Given the description of an element on the screen output the (x, y) to click on. 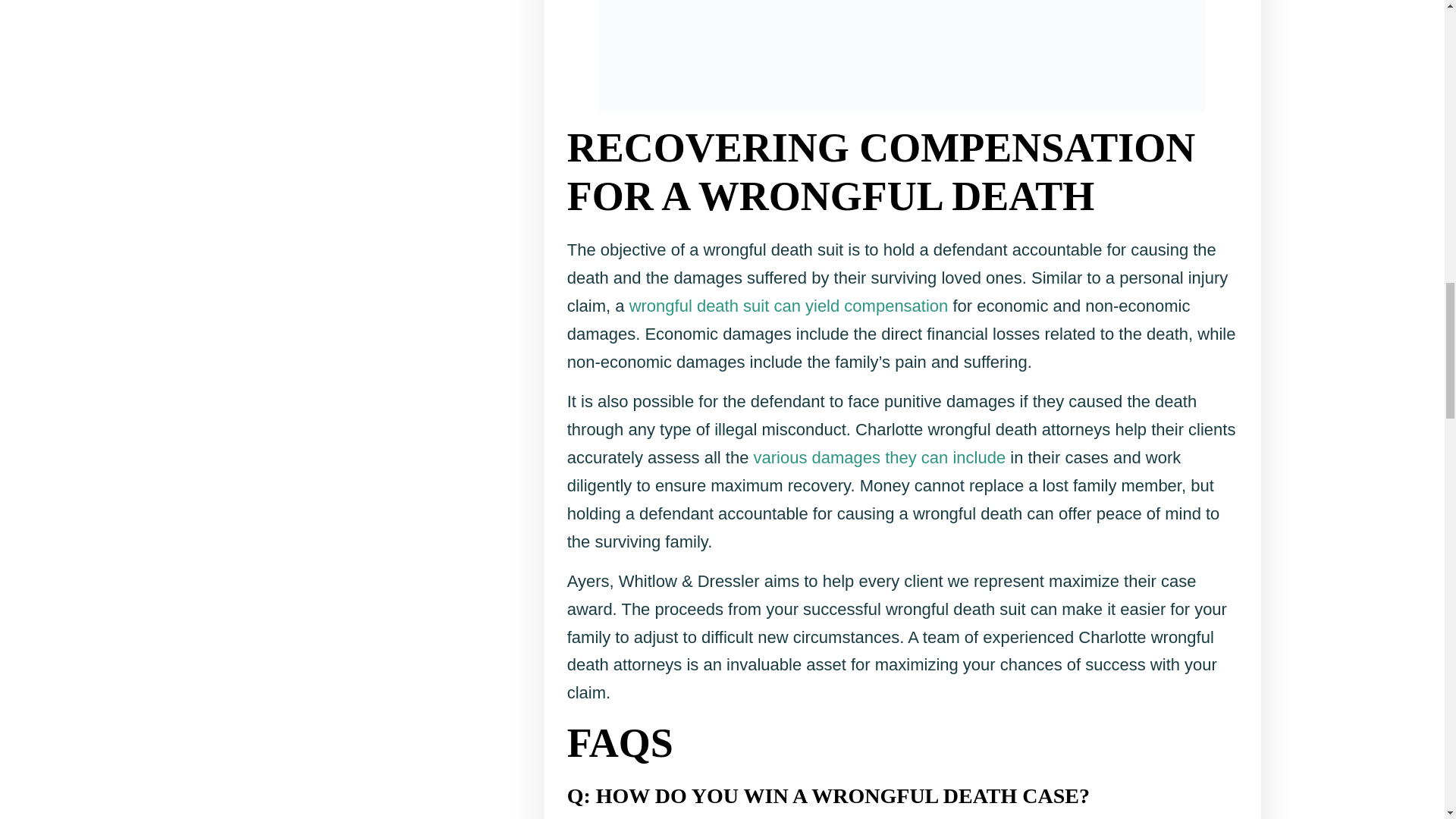
What constitutes wrongful death in North Carolina? (901, 56)
